Given the description of an element on the screen output the (x, y) to click on. 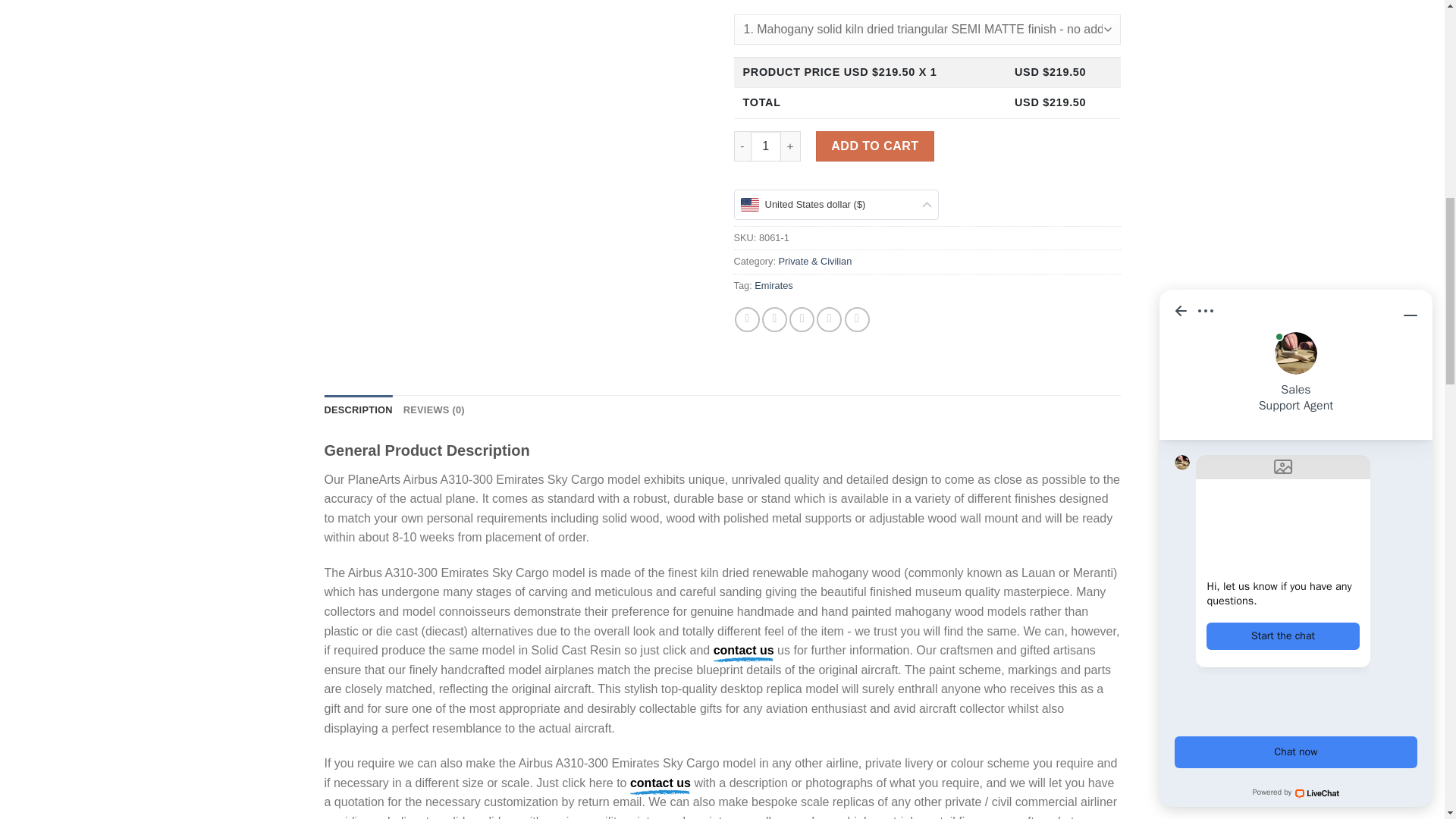
1 (765, 146)
Qty (765, 146)
- (742, 146)
